Given the description of an element on the screen output the (x, y) to click on. 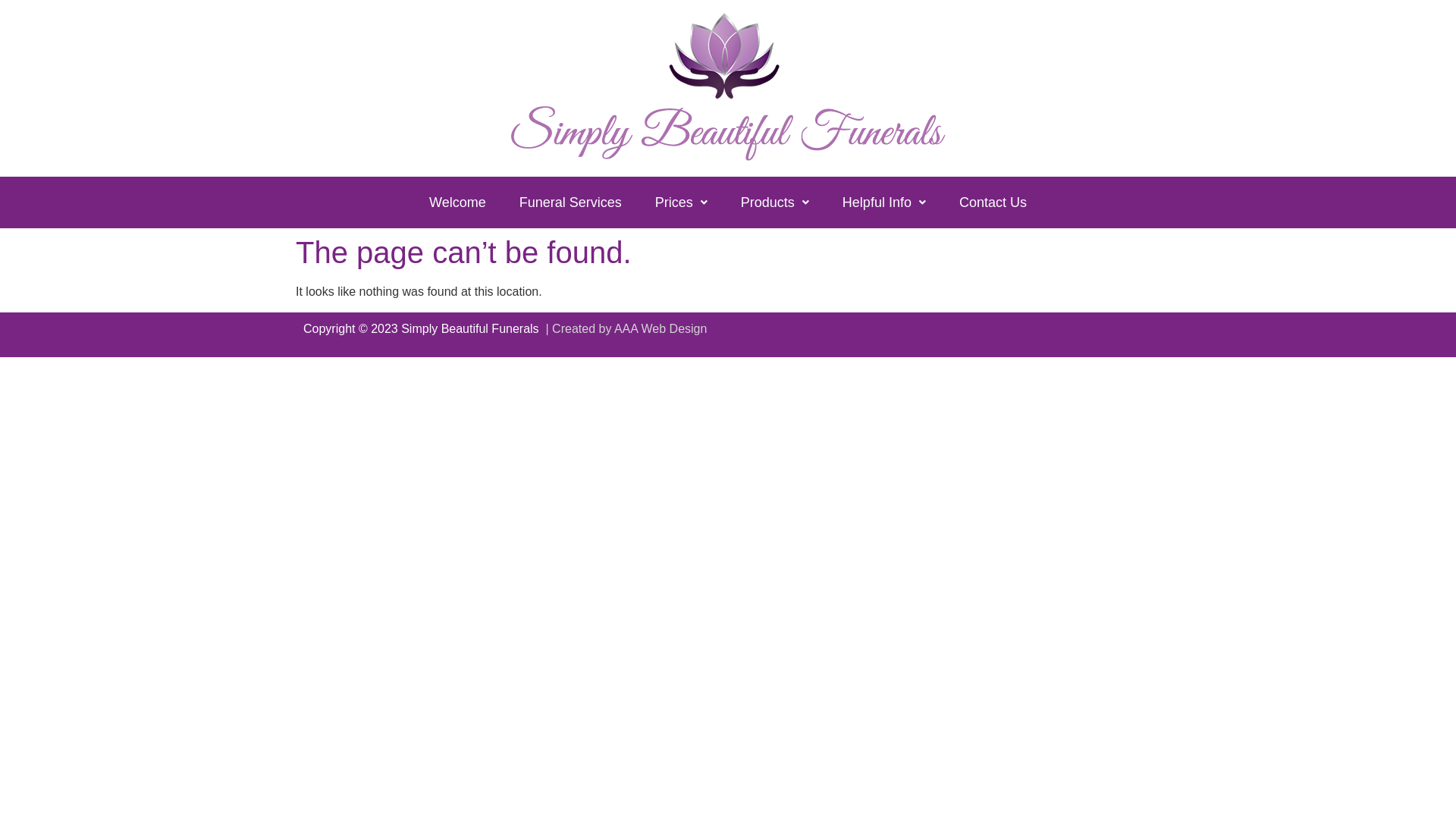
Helpful Info Element type: text (884, 202)
Products Element type: text (774, 202)
| Created by AAA Web Design Element type: text (624, 328)
Welcome Element type: text (457, 202)
Contact Us Element type: text (992, 202)
Funeral Services Element type: text (570, 202)
Prices Element type: text (680, 202)
